Given the description of an element on the screen output the (x, y) to click on. 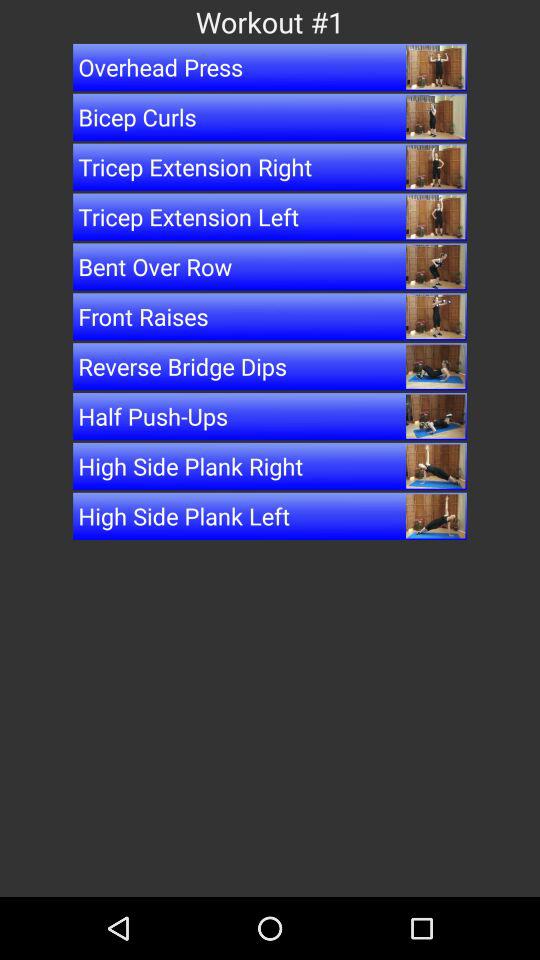
choose the bent over row icon (269, 266)
